Given the description of an element on the screen output the (x, y) to click on. 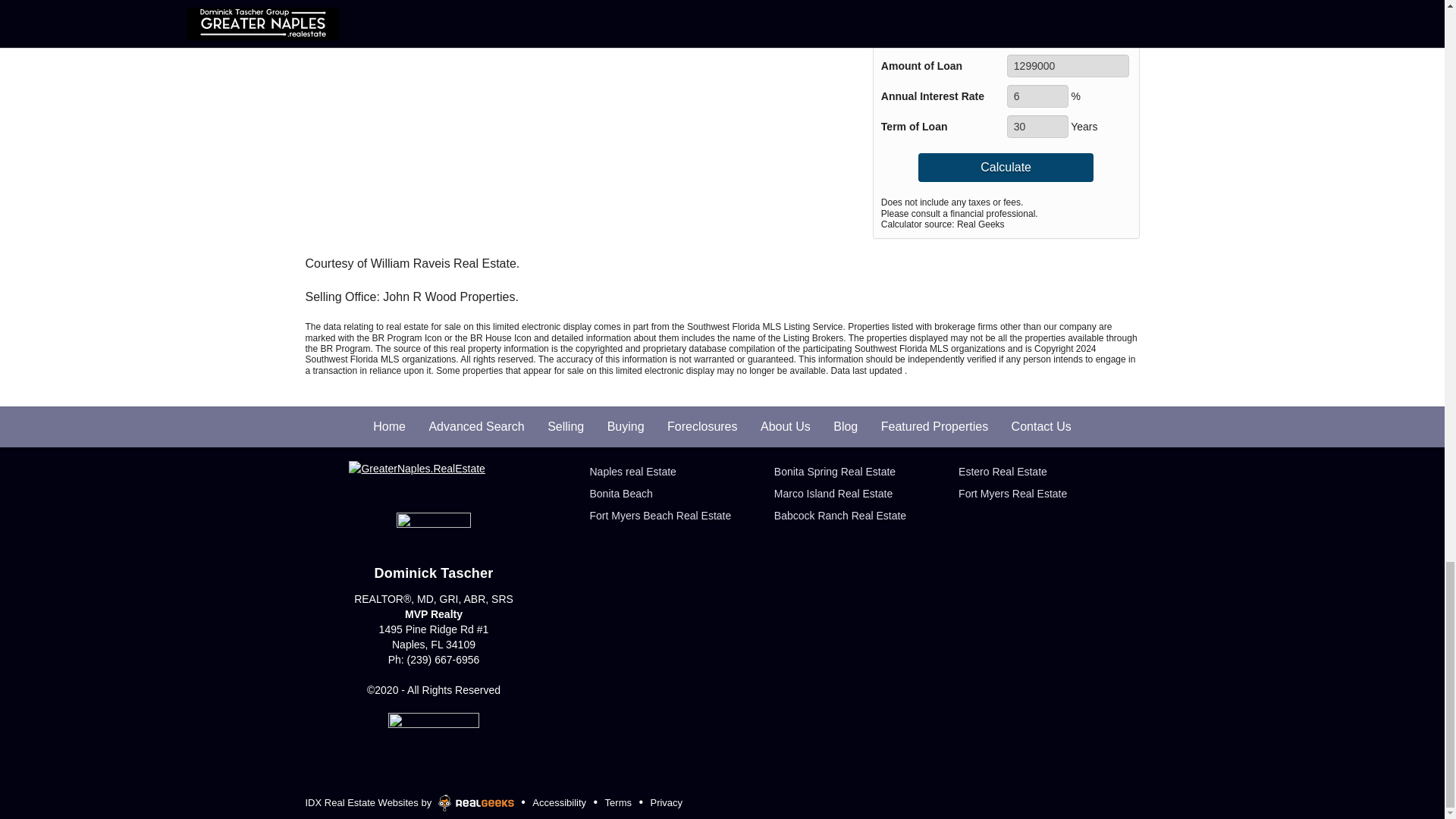
30 (1037, 126)
6 (1037, 96)
1299000 (1068, 65)
Home Page (433, 479)
